Given the description of an element on the screen output the (x, y) to click on. 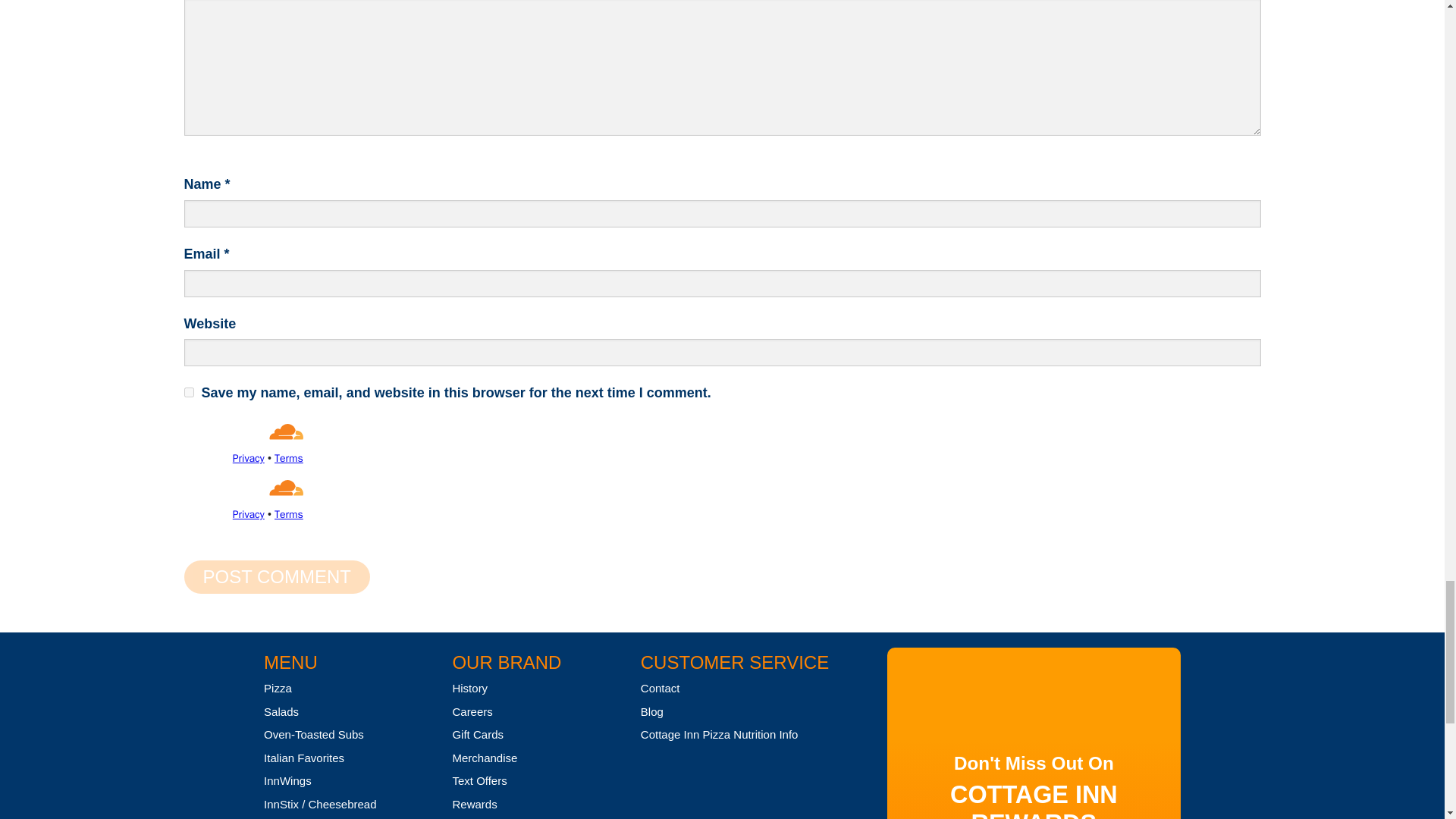
Menu (290, 661)
History (469, 687)
Post Comment (276, 576)
Italian Favorites (303, 757)
Pizza (277, 687)
Our Brand (505, 661)
Salads (280, 711)
yes (188, 392)
Oven-Toasted Subs (313, 734)
Careers (471, 711)
